Given the description of an element on the screen output the (x, y) to click on. 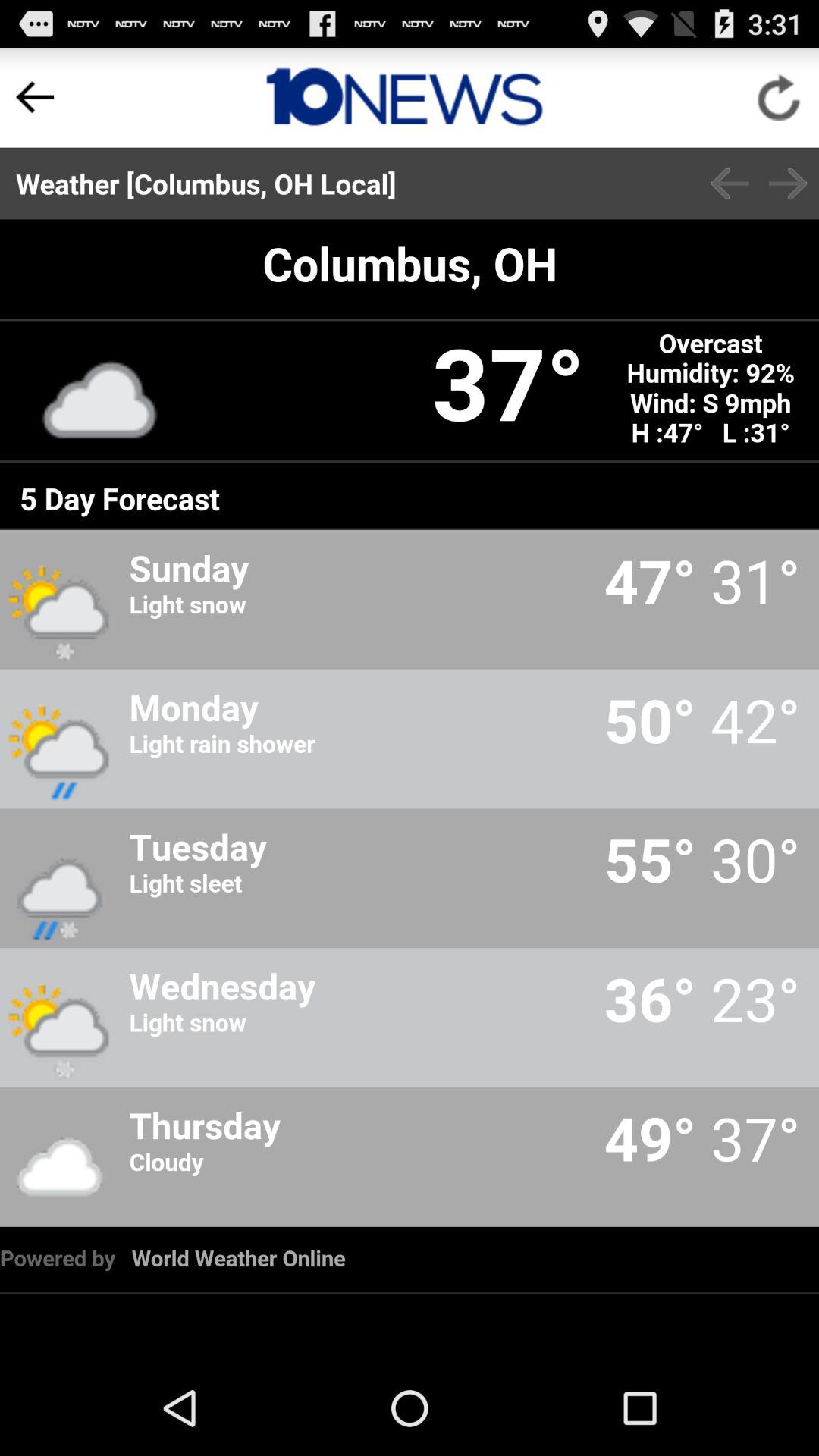
go next (787, 183)
